Given the description of an element on the screen output the (x, y) to click on. 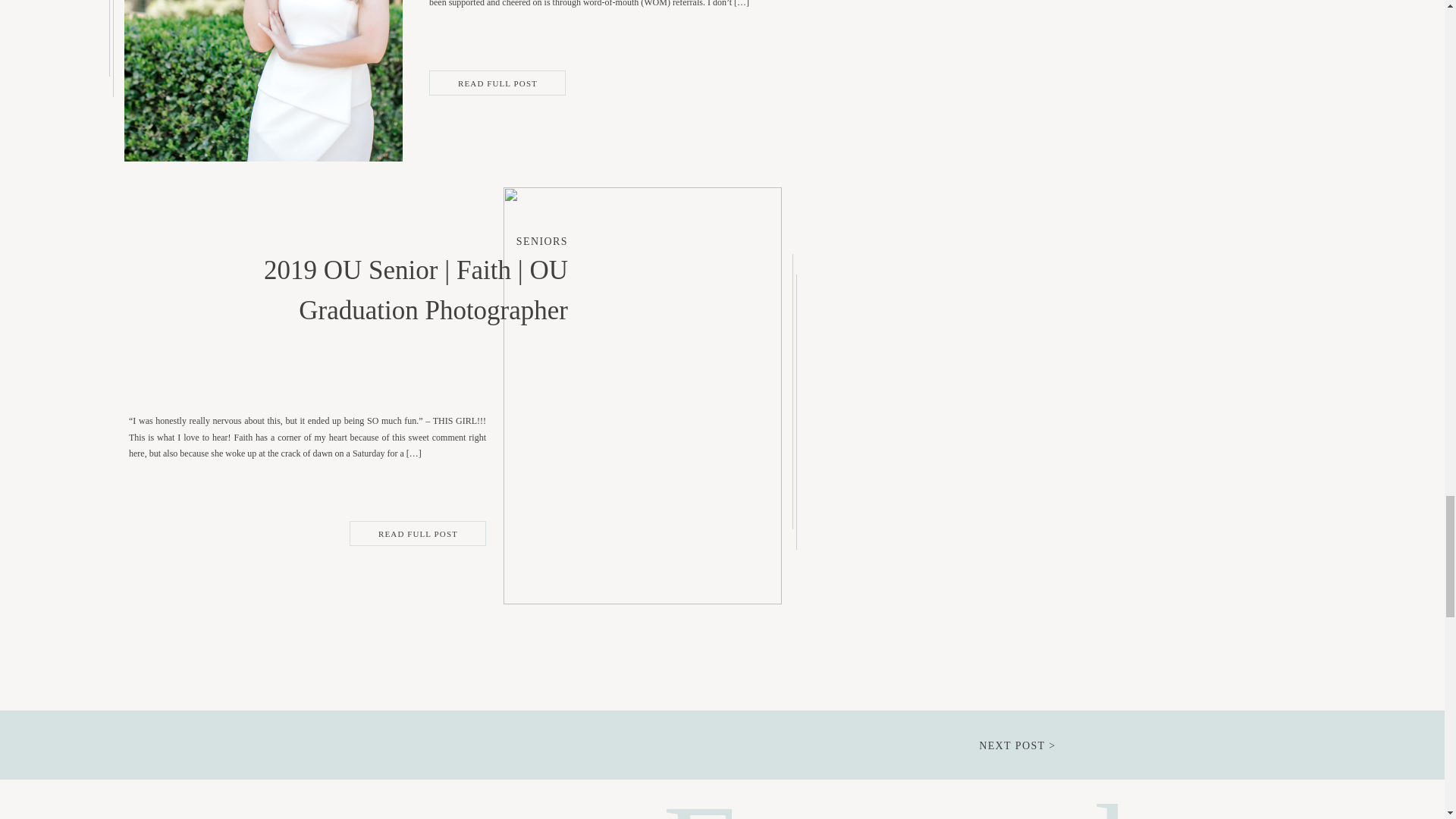
SENIORS (541, 241)
READ FULL POST (418, 533)
READ FULL POST (497, 83)
